Given the description of an element on the screen output the (x, y) to click on. 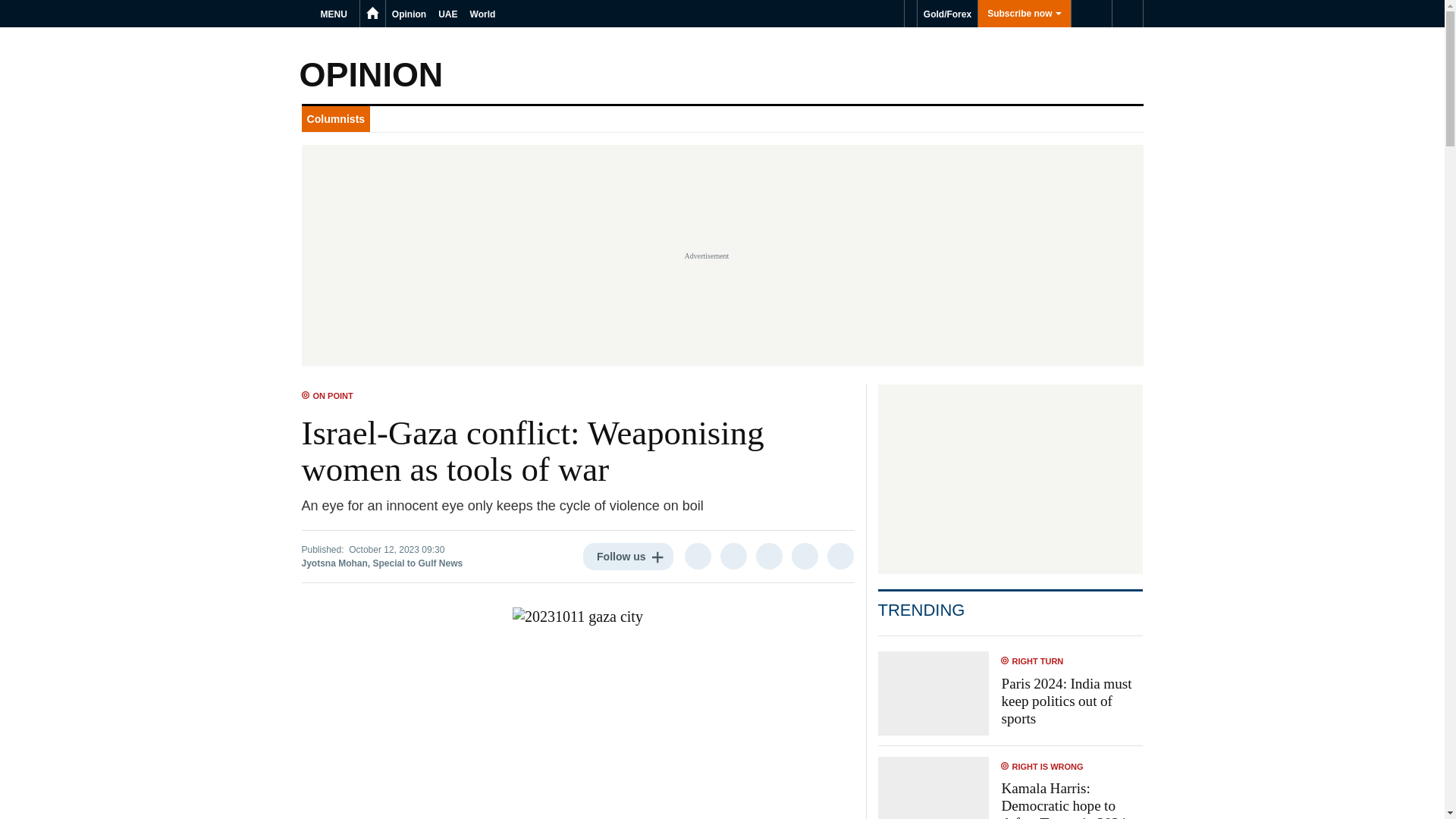
World (483, 13)
Opinion (408, 13)
MENU (336, 13)
Subscribe now (1024, 13)
UAE (447, 13)
